Given the description of an element on the screen output the (x, y) to click on. 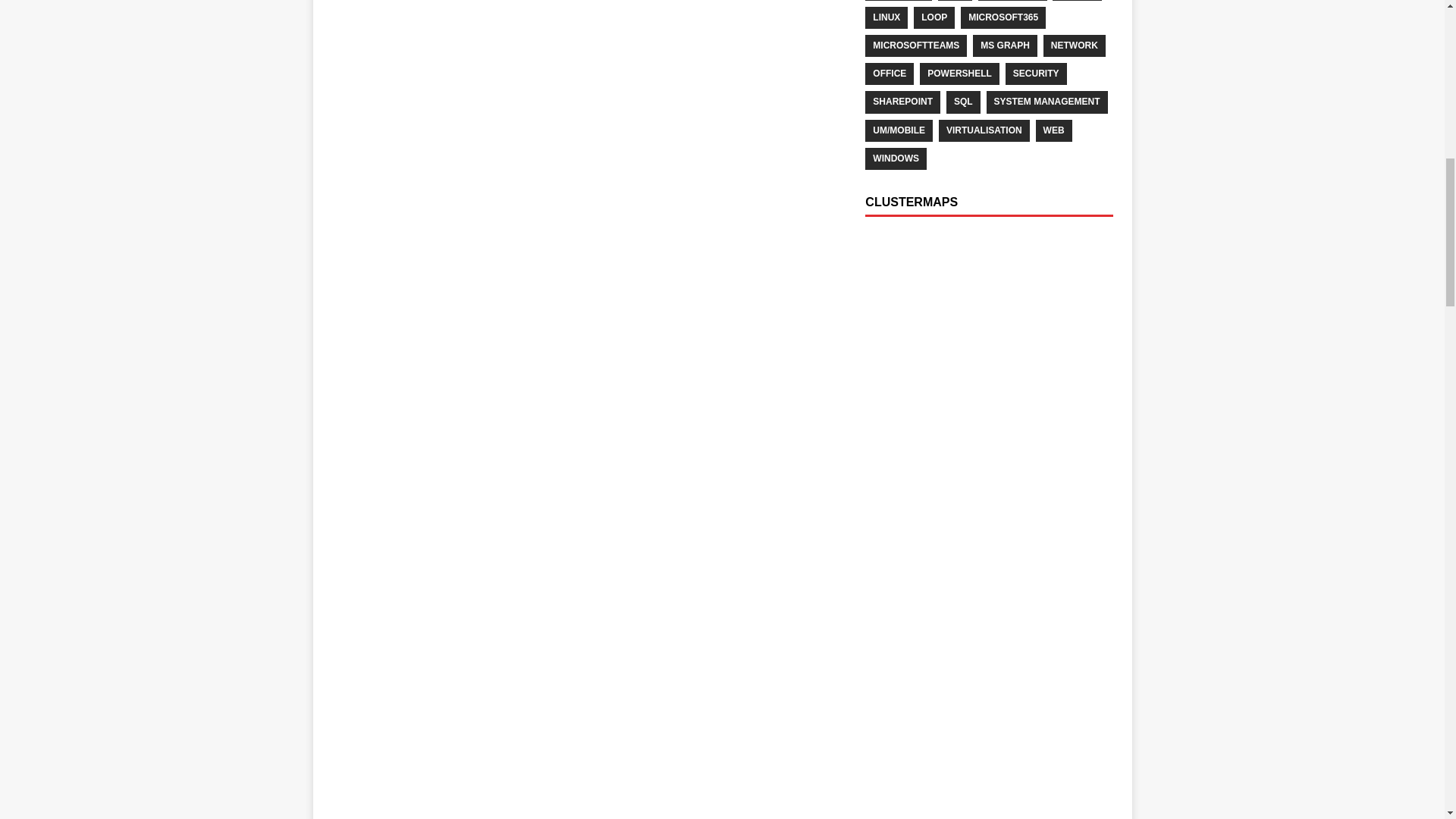
MicrosoftTeams (915, 45)
NETWORK (1074, 45)
Linux (885, 17)
INTUNE (1077, 0)
Network (1074, 45)
LINUX (885, 17)
INTUNE (1077, 0)
Microsoft365 (1002, 17)
MICROSOFTTEAMS (915, 45)
EXCHANGE (897, 0)
LOOP (934, 17)
MS GRAPH (1004, 45)
HARDWARE (1012, 0)
